Given the description of an element on the screen output the (x, y) to click on. 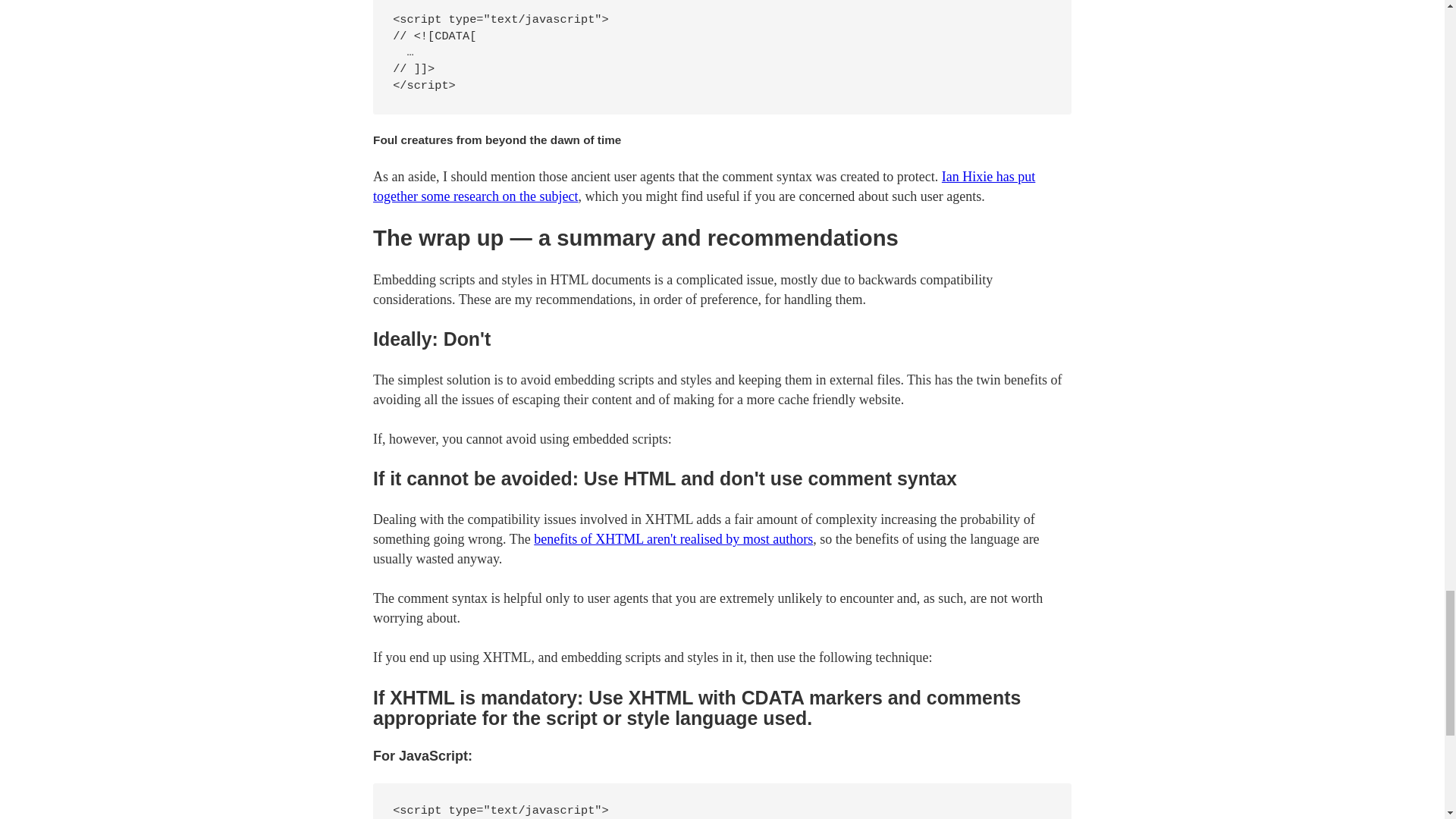
Ian Hixie has put together some research on the subject (703, 185)
benefits of XHTML aren't realised by most authors (673, 539)
